Given the description of an element on the screen output the (x, y) to click on. 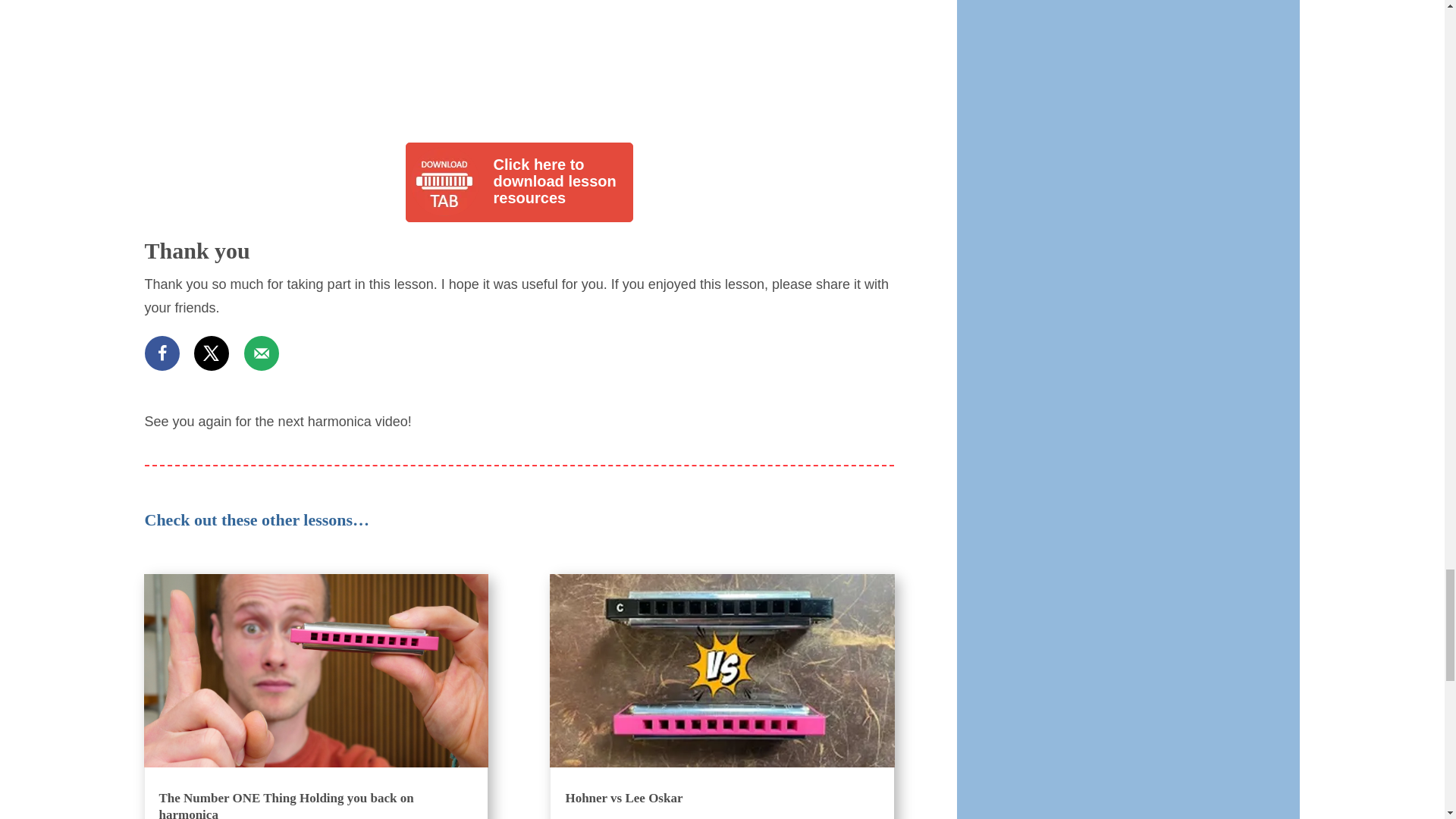
Send over email (261, 353)
Share on X (210, 353)
Share on Facebook (161, 353)
